Given the description of an element on the screen output the (x, y) to click on. 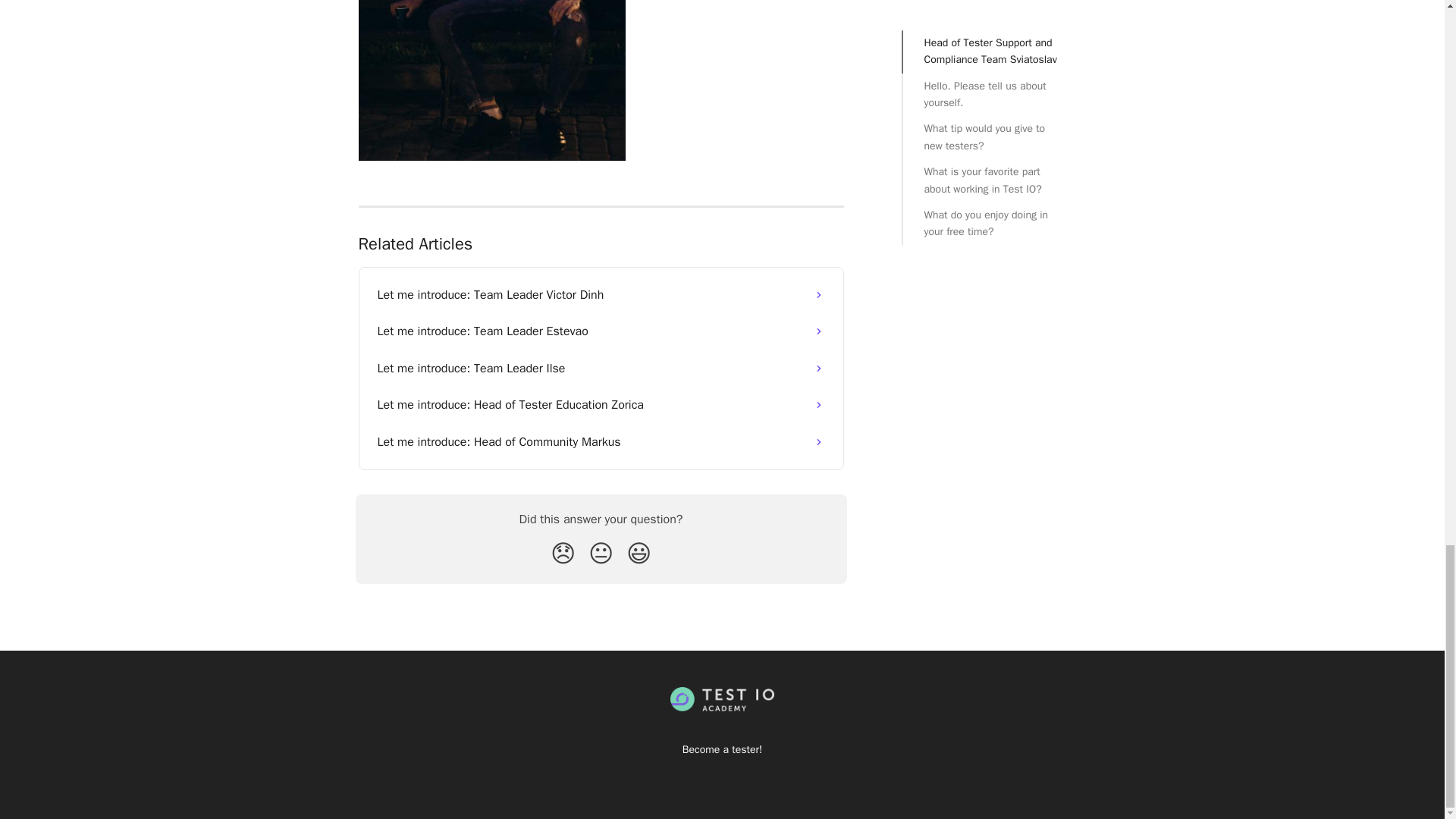
Let me introduce: Team Leader Ilse (601, 368)
Let me introduce: Team Leader Estevao (601, 330)
Become a tester! (721, 748)
Let me introduce: Team Leader Victor Dinh (601, 294)
Let me introduce: Head of Tester Education Zorica (601, 404)
Let me introduce: Head of Community Markus (601, 442)
